Given the description of an element on the screen output the (x, y) to click on. 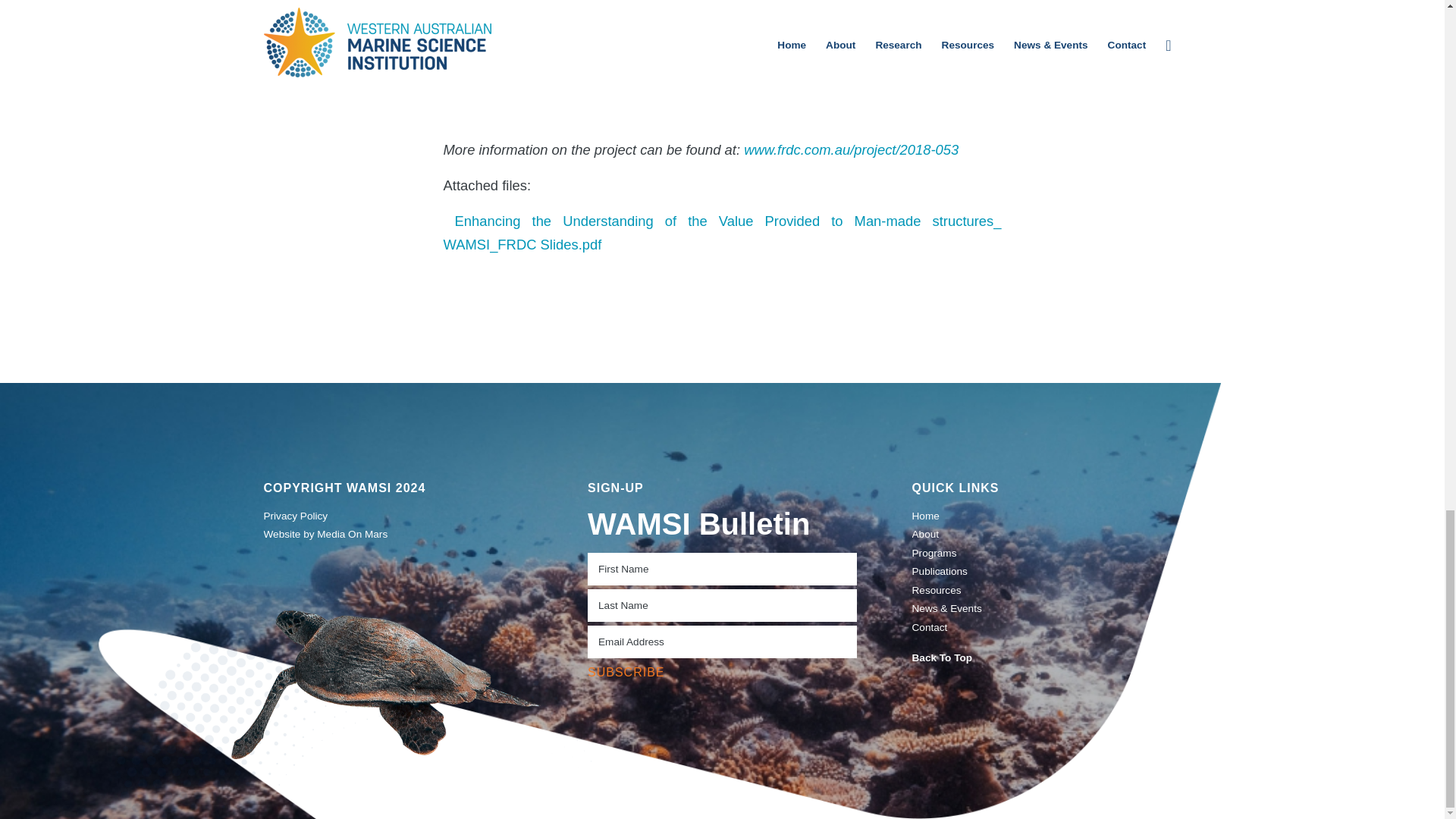
Privacy Policy (397, 515)
Subscribe (625, 672)
Website by Media On Mars (397, 534)
Programs (1046, 553)
About (1046, 534)
Subscribe (625, 672)
Home (1046, 515)
Publications (1046, 571)
Back To Top (1046, 658)
Contact (1046, 628)
